Given the description of an element on the screen output the (x, y) to click on. 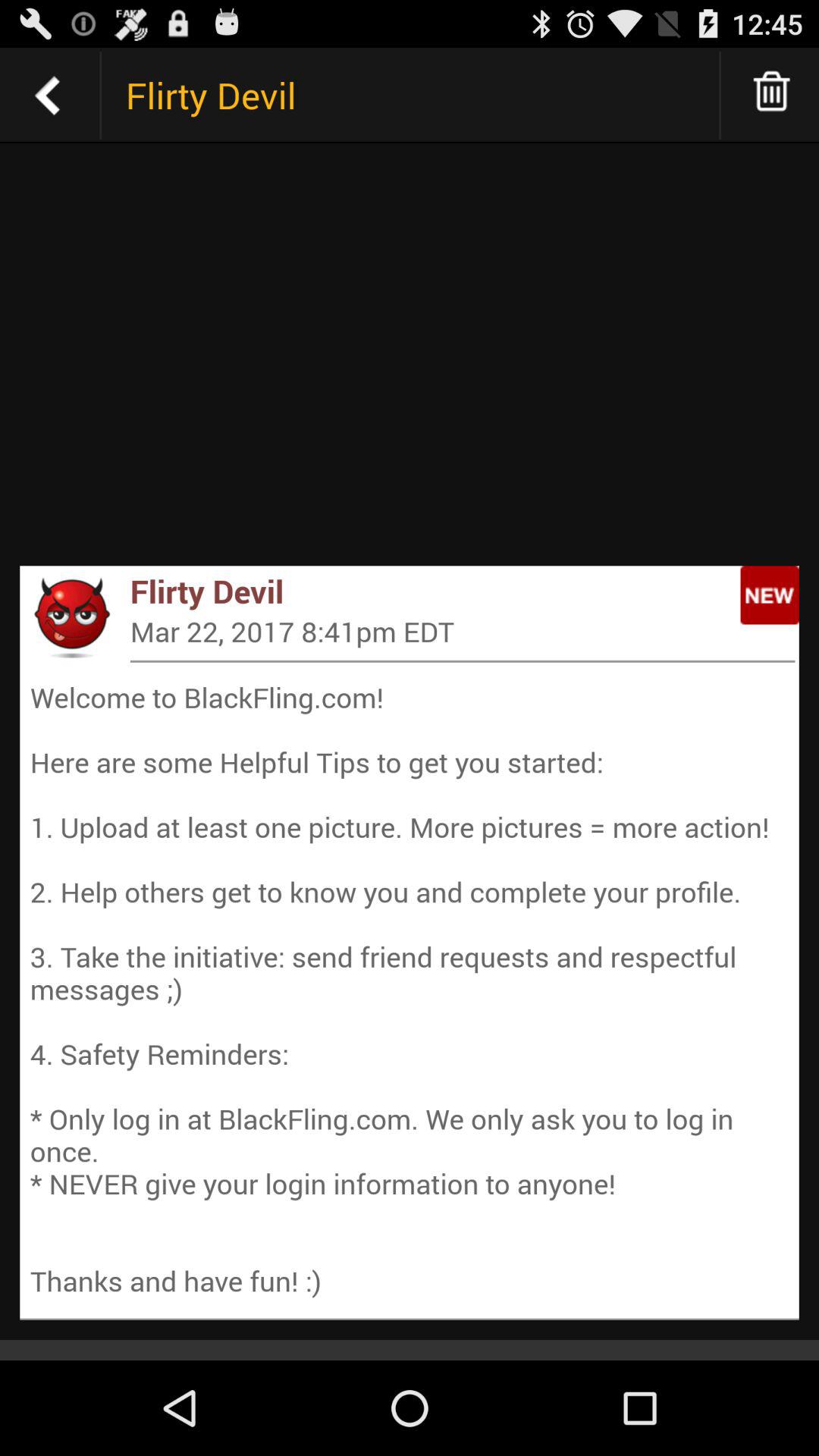
click welcome to blackfling at the bottom (409, 988)
